Given the description of an element on the screen output the (x, y) to click on. 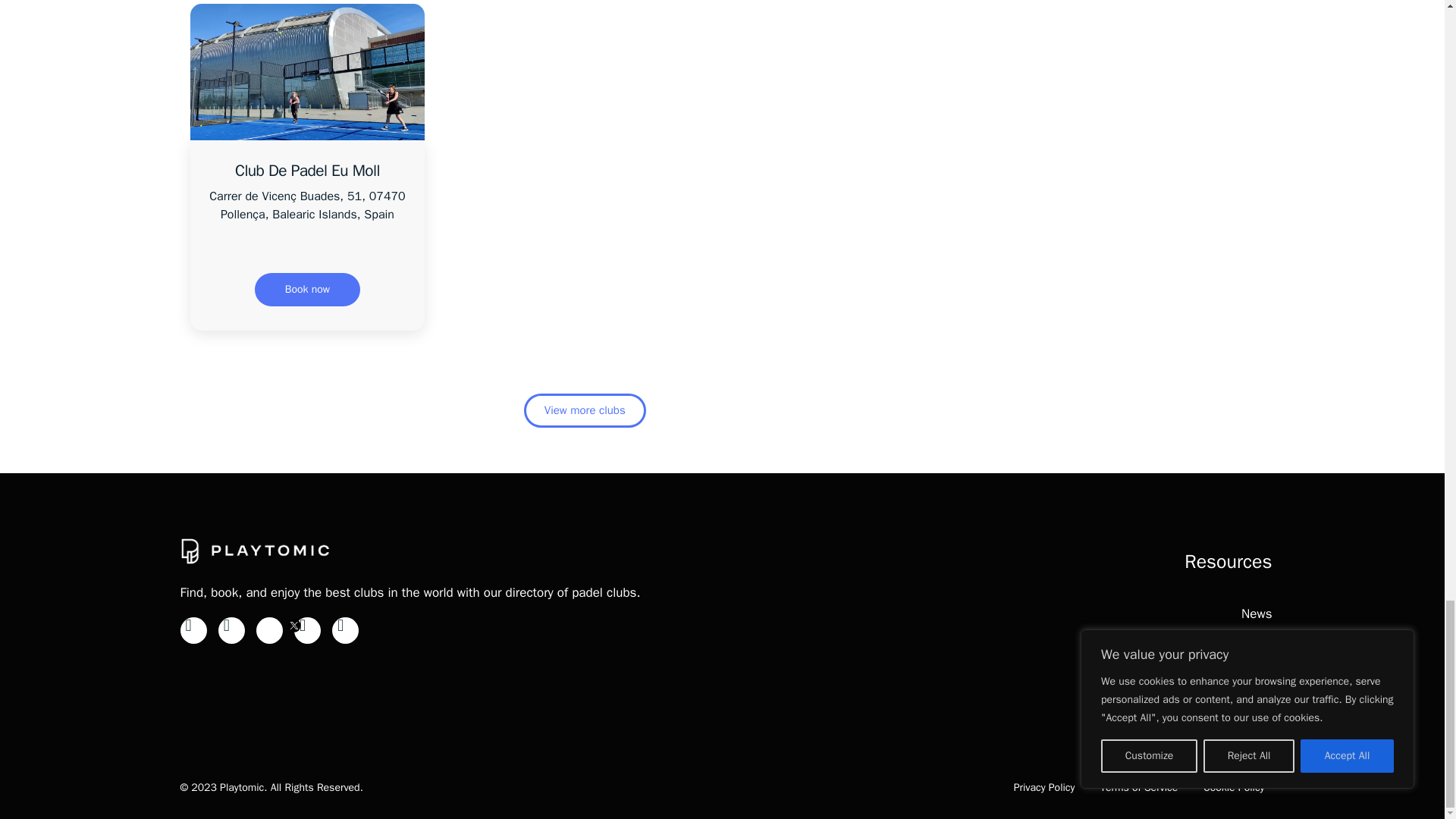
Book now (306, 289)
View more clubs (585, 410)
